Given the description of an element on the screen output the (x, y) to click on. 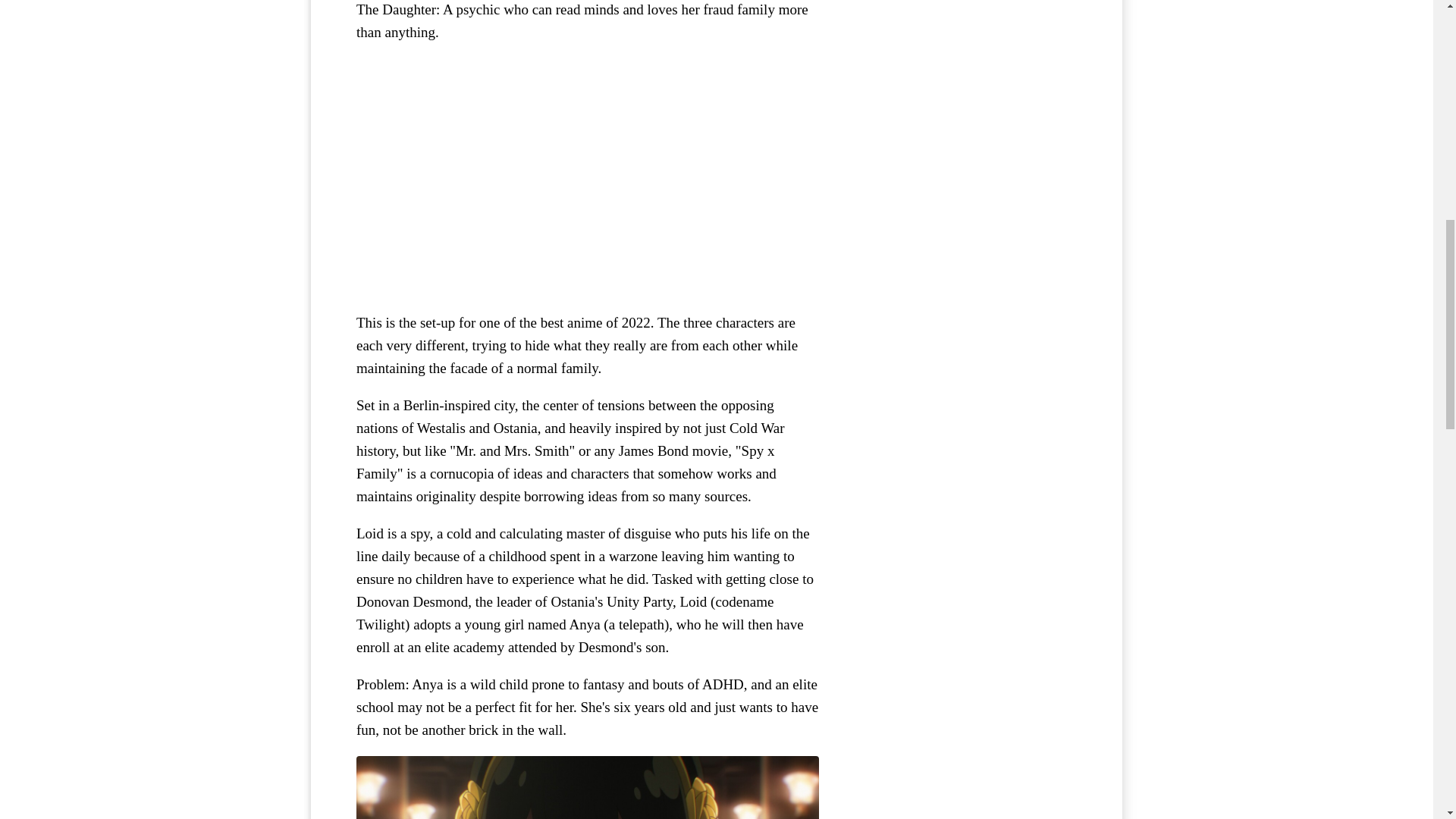
YouTube video player (587, 177)
